Given the description of an element on the screen output the (x, y) to click on. 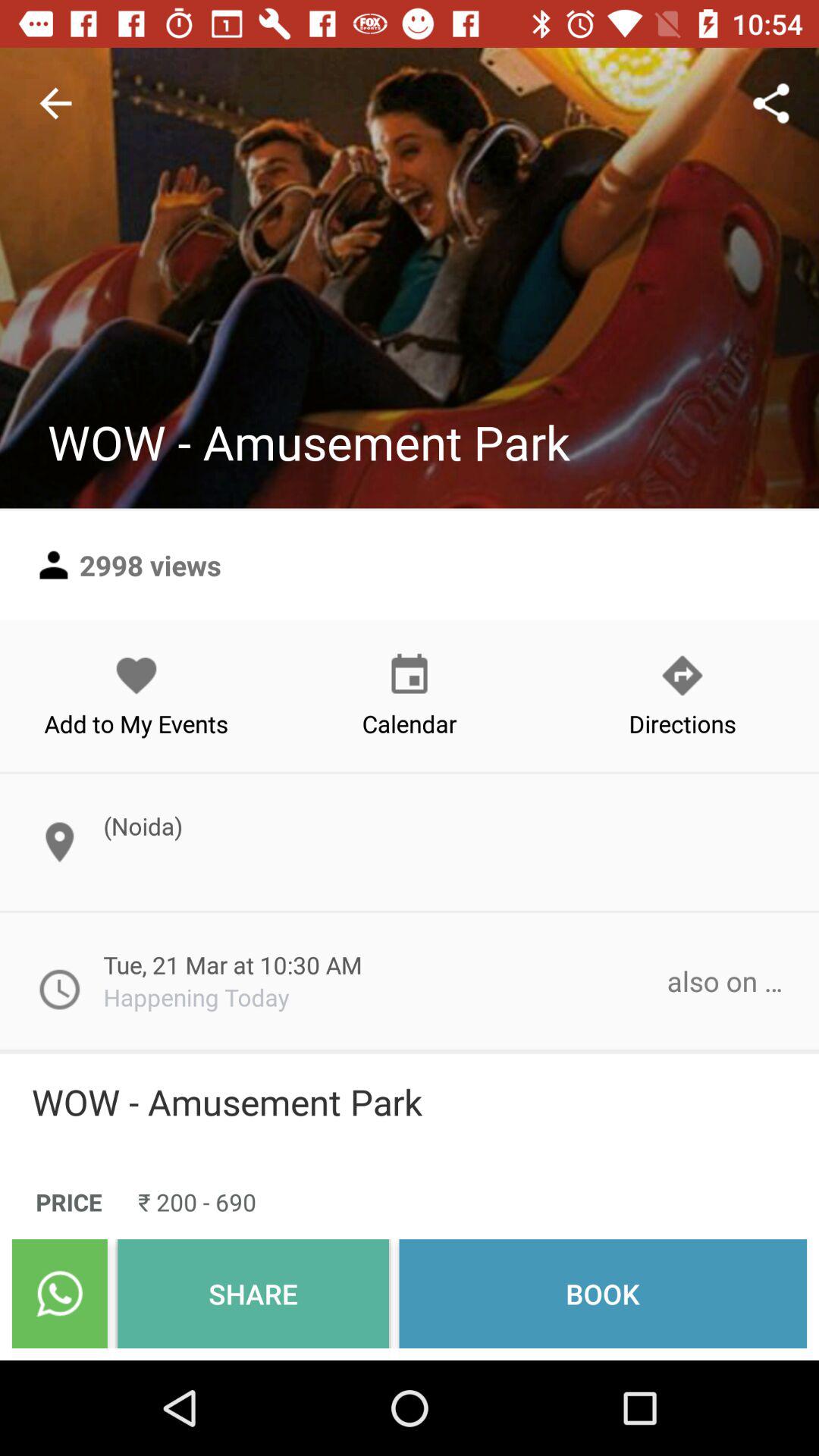
click the icon next to calendar (136, 695)
